Given the description of an element on the screen output the (x, y) to click on. 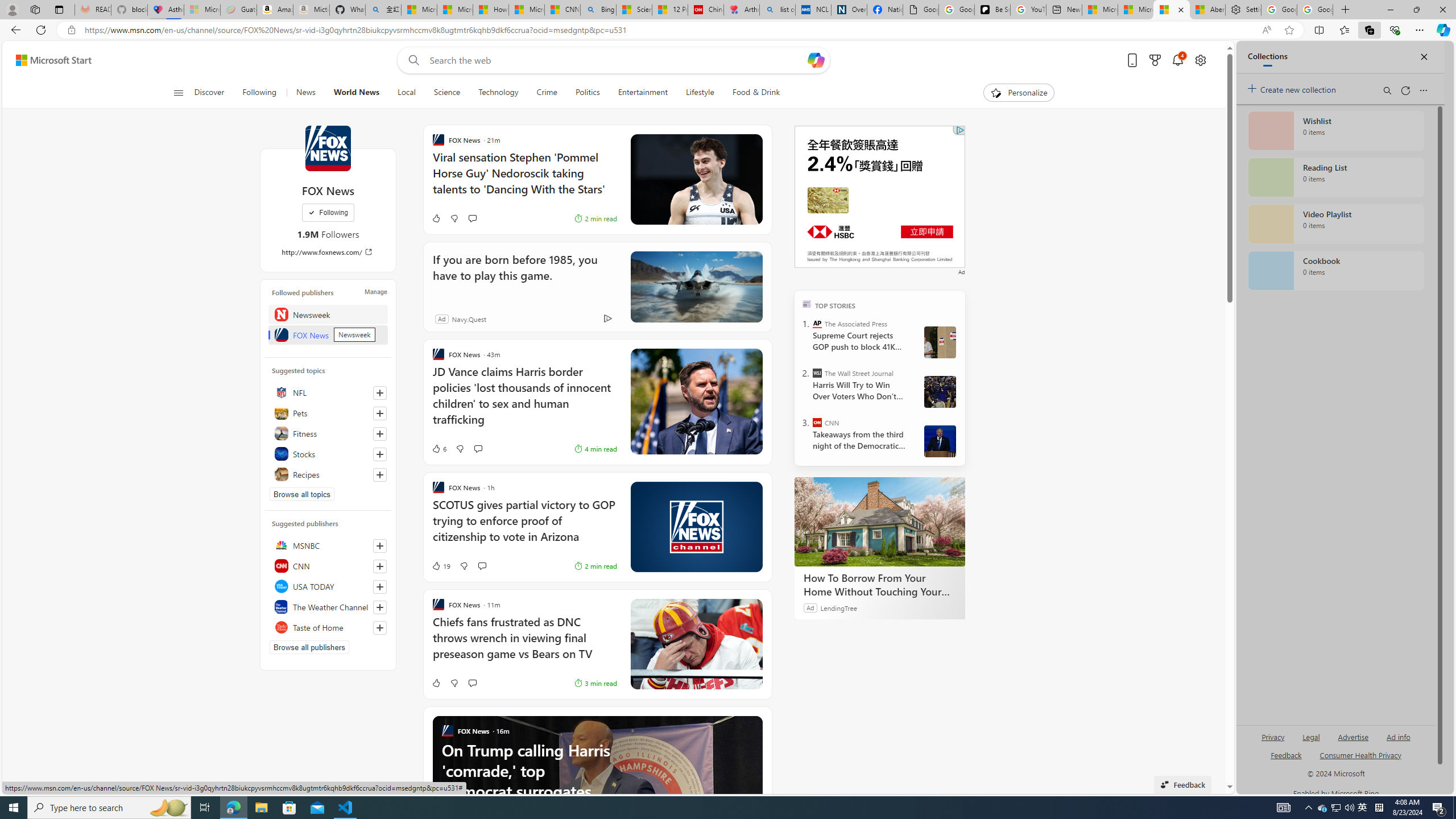
Browse all publishers (309, 647)
FOX News (327, 148)
If you are born before 1985, you have to play this game. (521, 274)
19 Like (440, 565)
Like (435, 682)
